Given the description of an element on the screen output the (x, y) to click on. 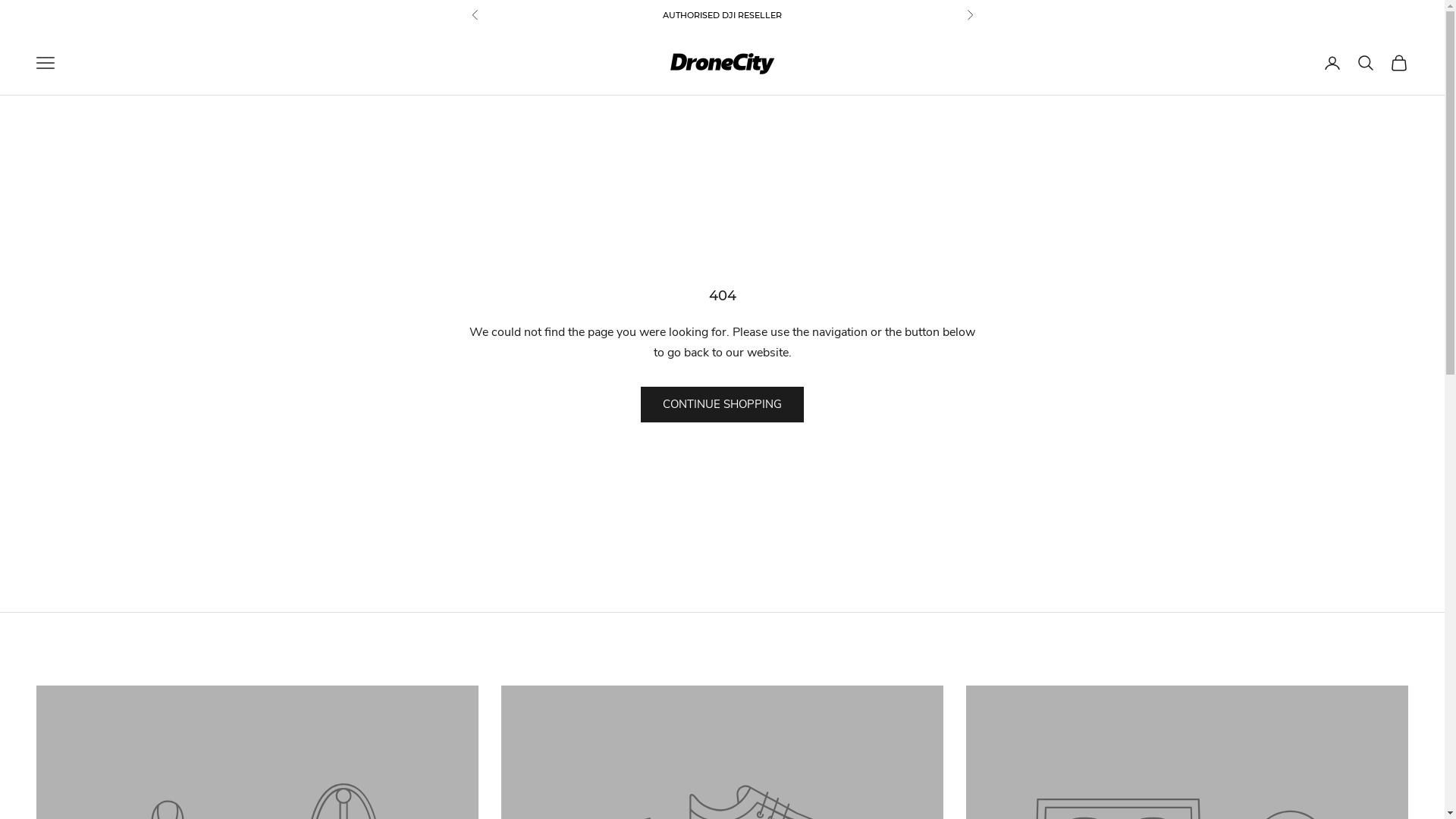
Previous Element type: text (474, 14)
Open navigation menu Element type: text (45, 62)
Drone City Element type: text (721, 63)
Open cart Element type: text (1399, 62)
Open account page Element type: text (1332, 62)
Open search Element type: text (1365, 62)
CONTINUE SHOPPING Element type: text (721, 404)
Next Element type: text (968, 14)
